Given the description of an element on the screen output the (x, y) to click on. 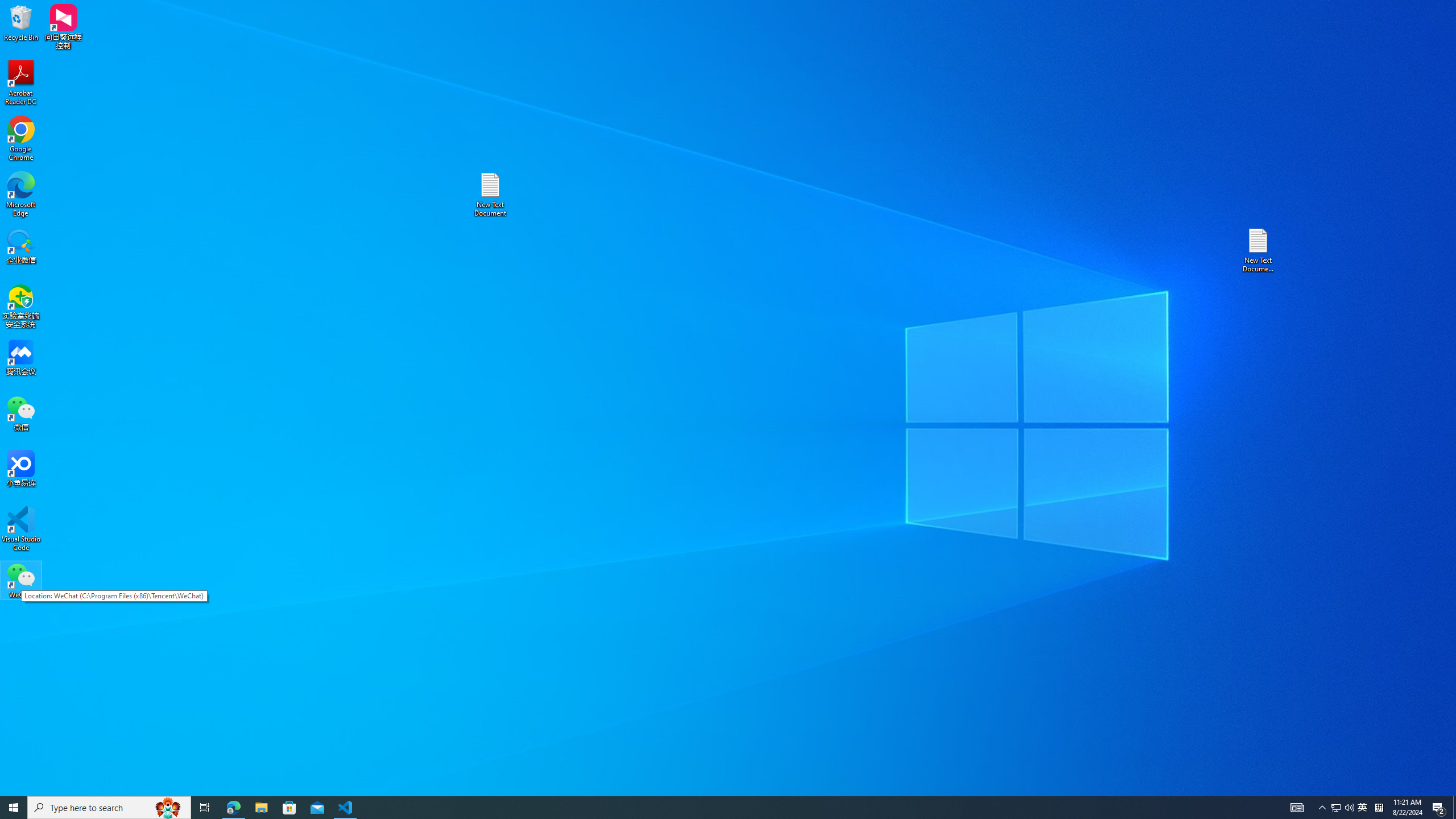
Notification Chevron (1322, 807)
Visual Studio Code - 1 running window (345, 807)
Q2790: 100% (1349, 807)
Microsoft Edge - 1 running window (233, 807)
Action Center, 2 new notifications (1439, 807)
WeChat (21, 580)
Microsoft Edge (21, 194)
Start (13, 807)
Task View (204, 807)
Visual Studio Code (21, 528)
Search highlights icon opens search home window (167, 807)
